Given the description of an element on the screen output the (x, y) to click on. 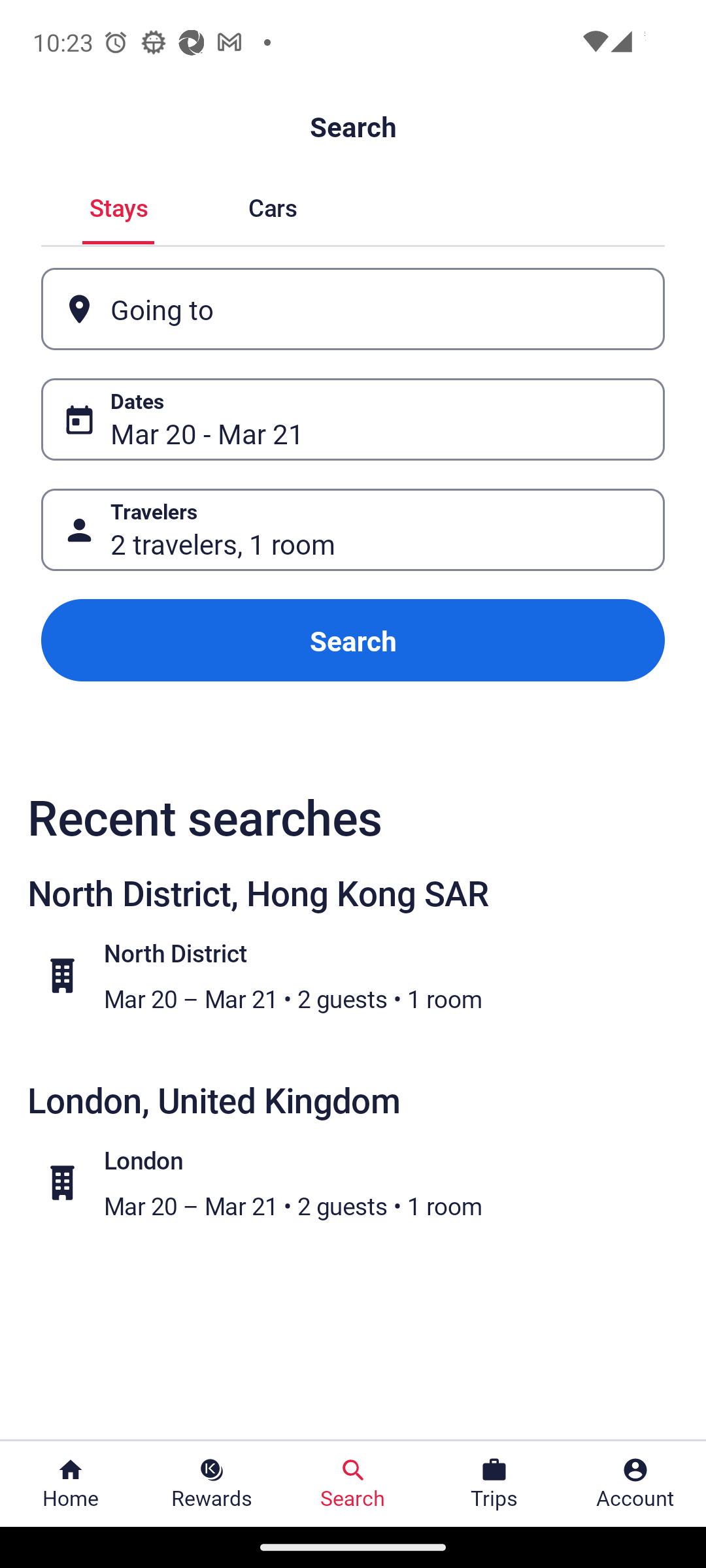
Cars (272, 205)
Going to Button (352, 308)
Dates Button Mar 20 - Mar 21 (352, 418)
Travelers Button 2 travelers, 1 room (352, 529)
Search (352, 640)
North District Mar 20 – Mar 21 • 2 guests • 1 room (363, 974)
London Mar 20 – Mar 21 • 2 guests • 1 room (363, 1181)
Home Home Button (70, 1483)
Rewards Rewards Button (211, 1483)
Trips Trips Button (493, 1483)
Account Profile. Button (635, 1483)
